Given the description of an element on the screen output the (x, y) to click on. 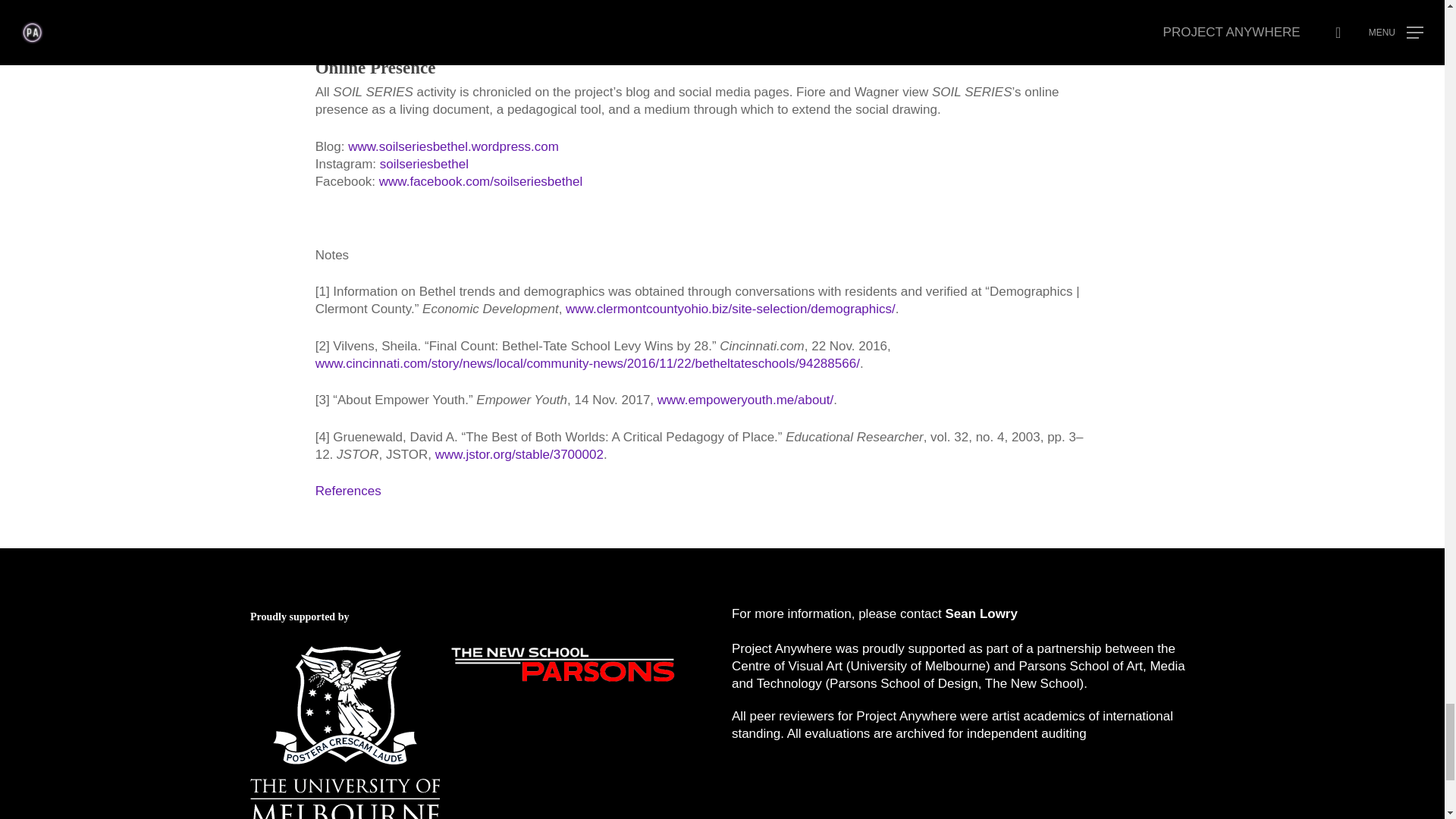
soilseriesbethel (424, 164)
www.soilseriesbethel.wordpress.com (453, 146)
References (348, 490)
Sean Lowry (979, 613)
